Given the description of an element on the screen output the (x, y) to click on. 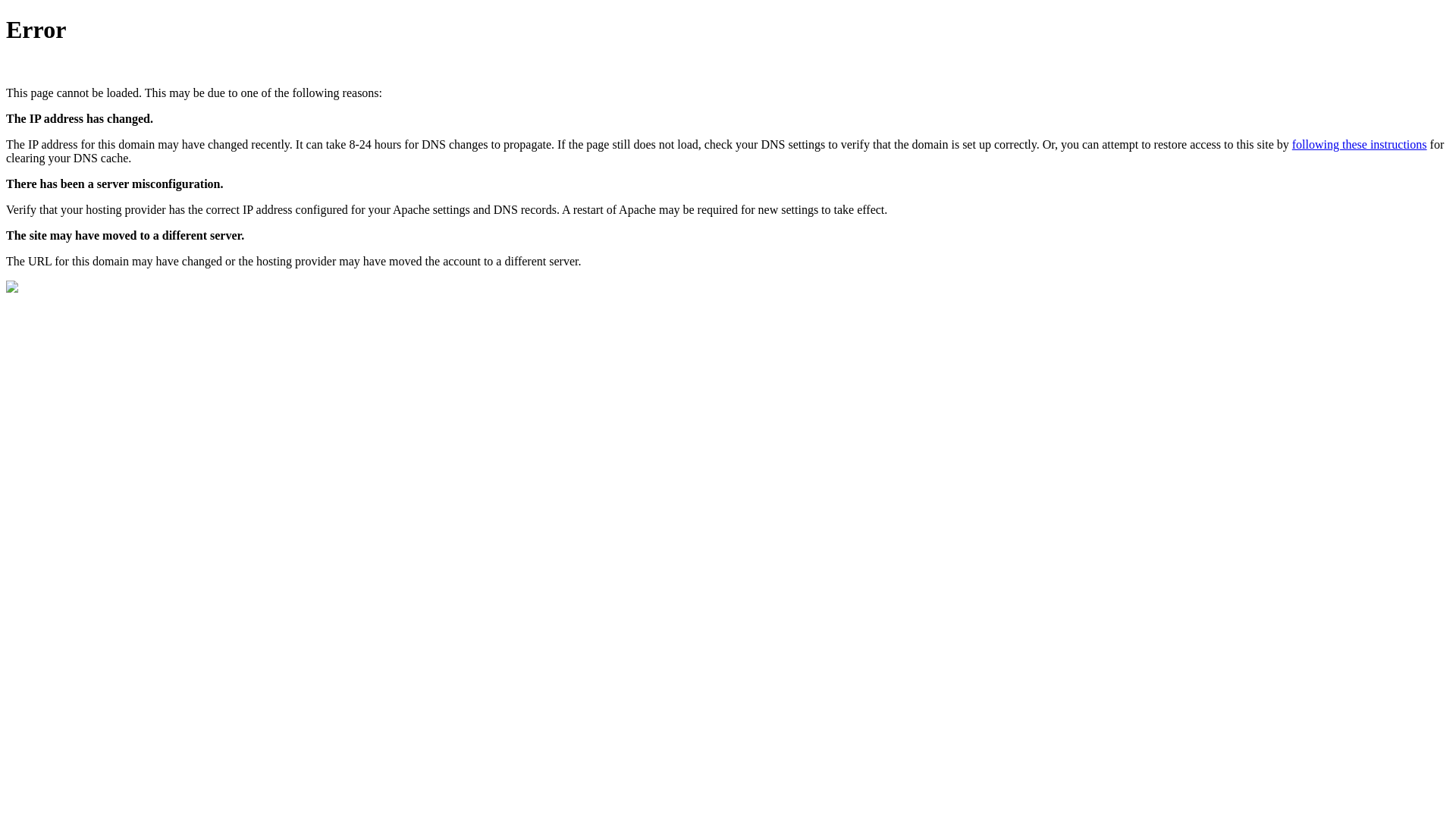
following these instructions Element type: text (1359, 144)
